Given the description of an element on the screen output the (x, y) to click on. 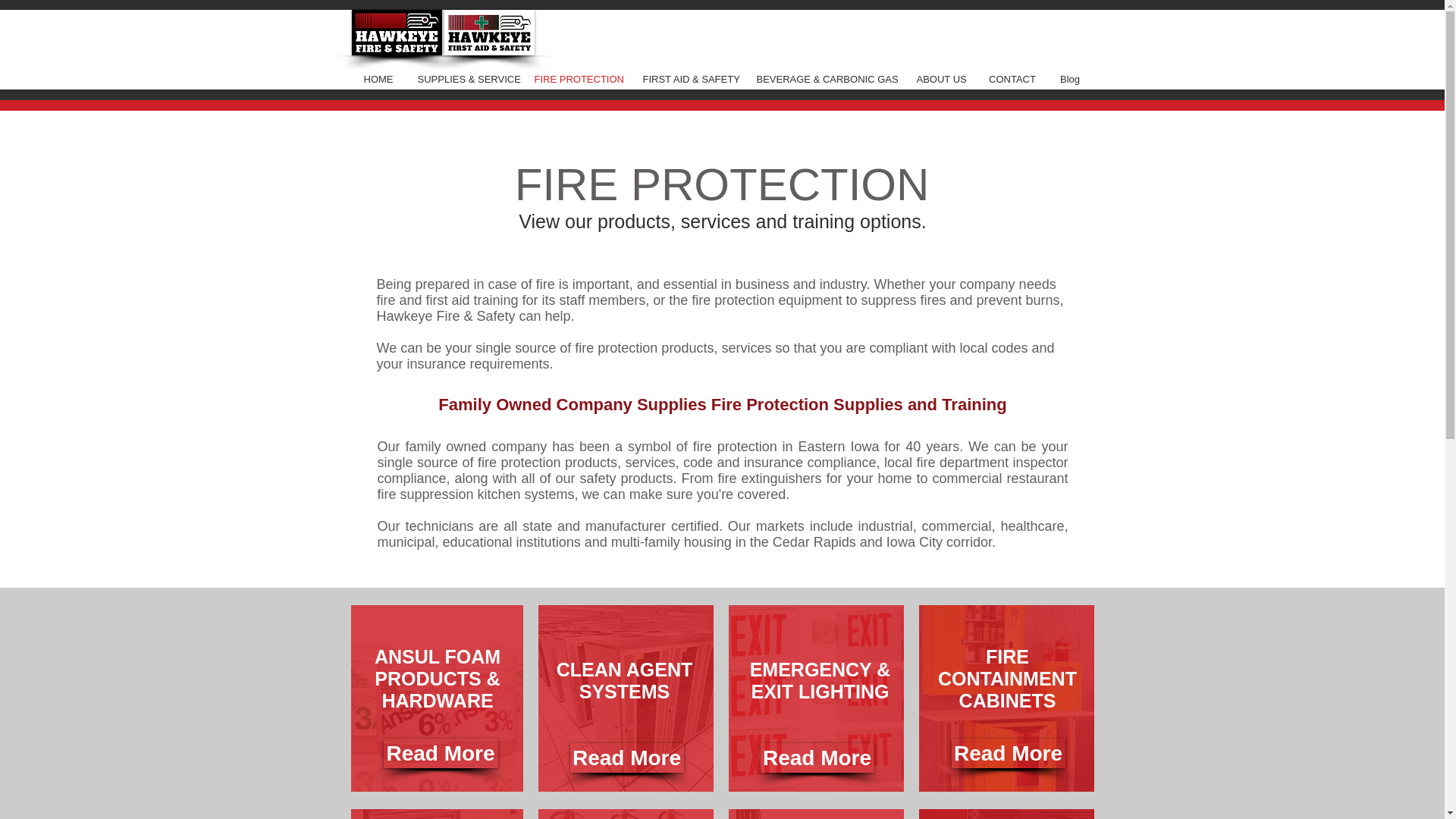
CONTACT (1011, 78)
FIRE PROTECTION (576, 78)
Blog (1070, 78)
Read More (440, 753)
HOME (378, 78)
ABOUT US (940, 78)
